Given the description of an element on the screen output the (x, y) to click on. 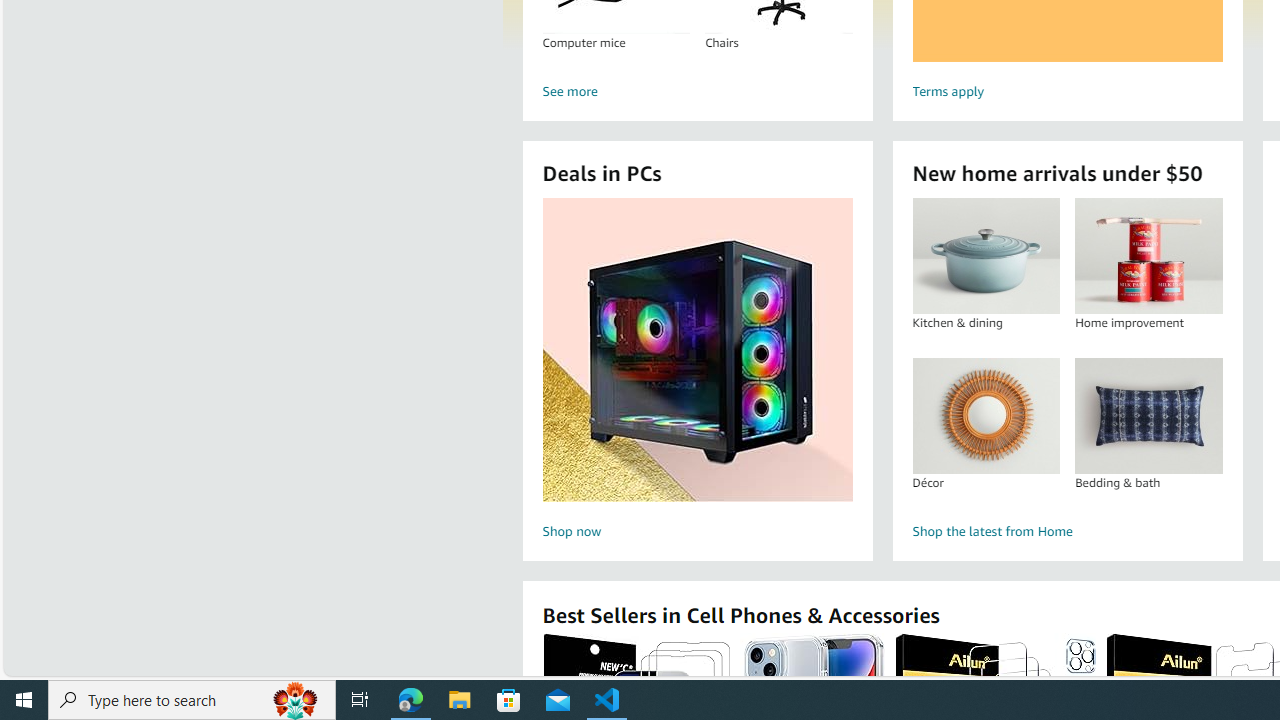
Deals in PCs Shop now (697, 371)
Bedding & bath (1148, 415)
Home improvement (1148, 256)
Deals in PCs (697, 349)
Shop the latest from Home (1066, 532)
Home improvement (1148, 256)
